Given the description of an element on the screen output the (x, y) to click on. 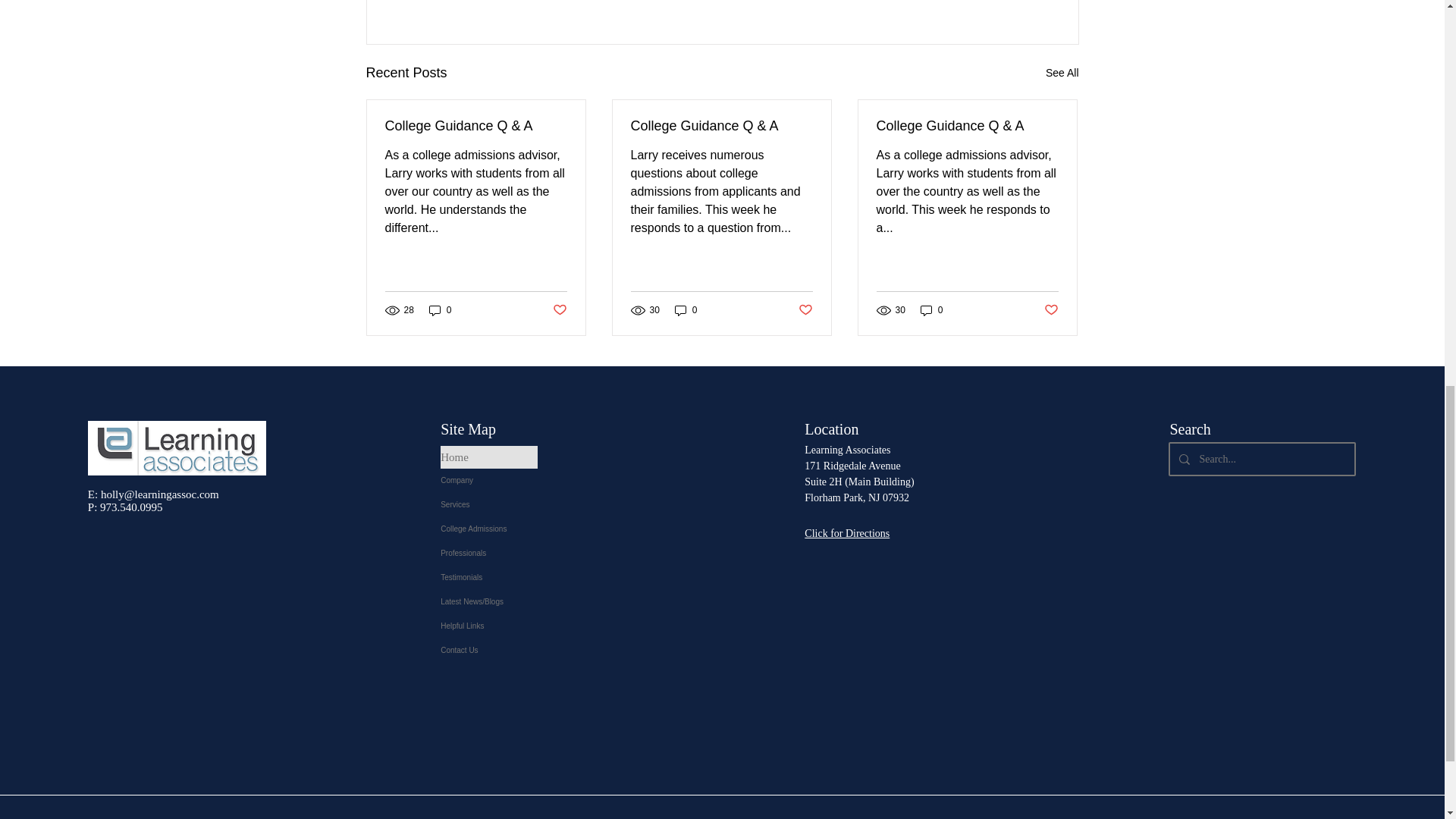
See All (1061, 73)
0 (685, 310)
Post not marked as liked (558, 309)
Post not marked as liked (804, 309)
0 (440, 310)
